Given the description of an element on the screen output the (x, y) to click on. 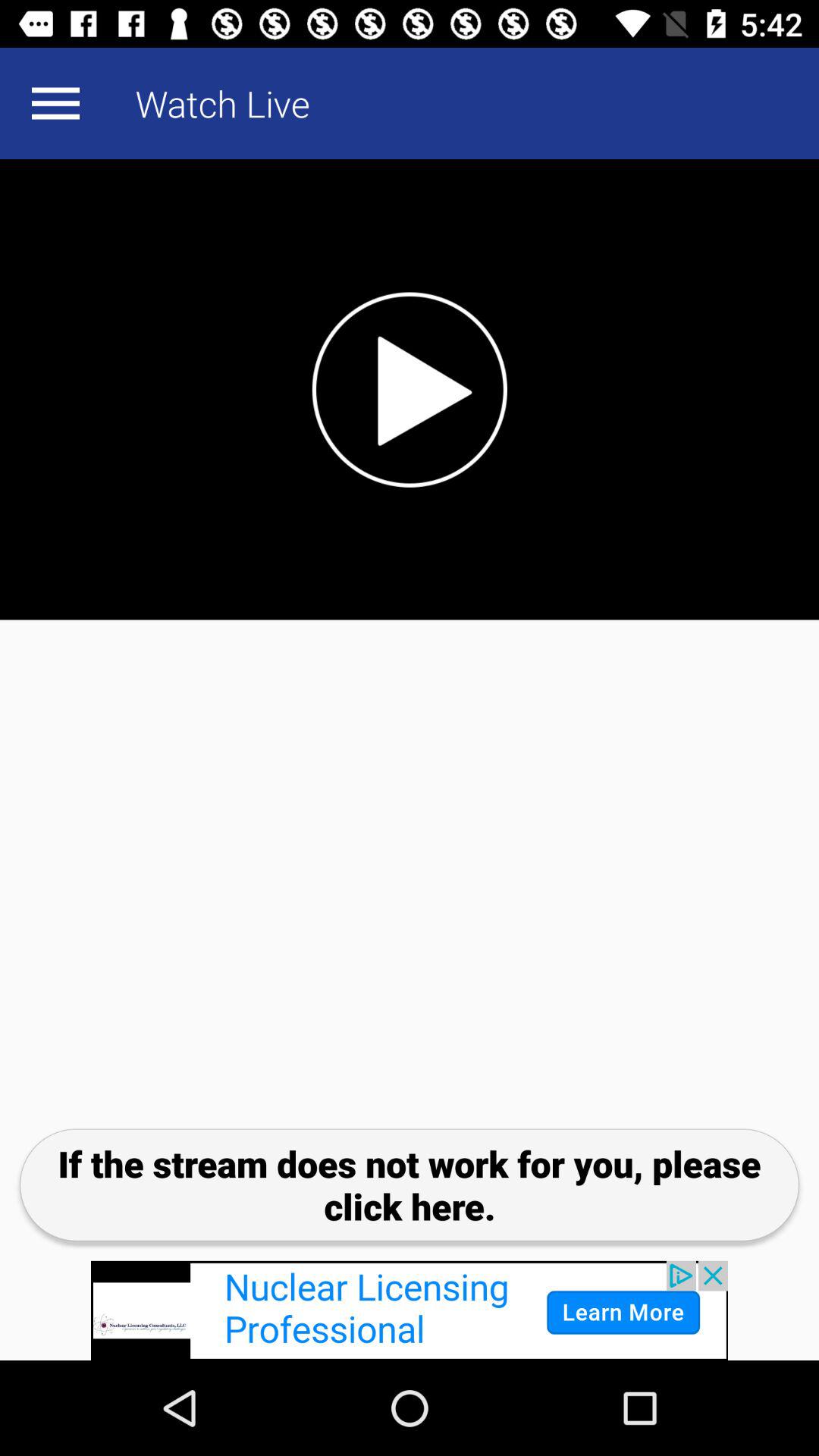
play the video (409, 389)
